Given the description of an element on the screen output the (x, y) to click on. 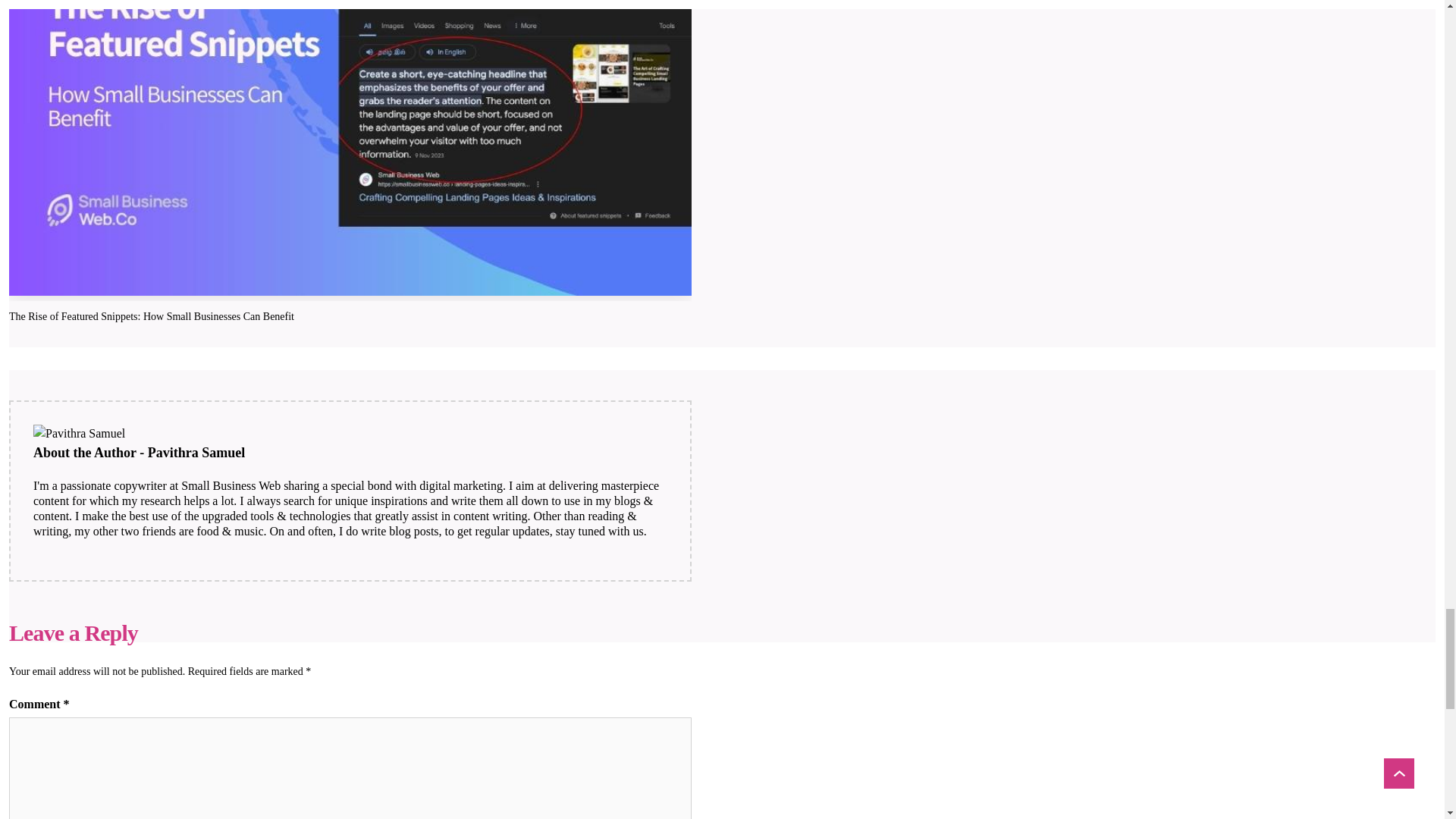
Pavithra Samuel (79, 434)
